Given the description of an element on the screen output the (x, y) to click on. 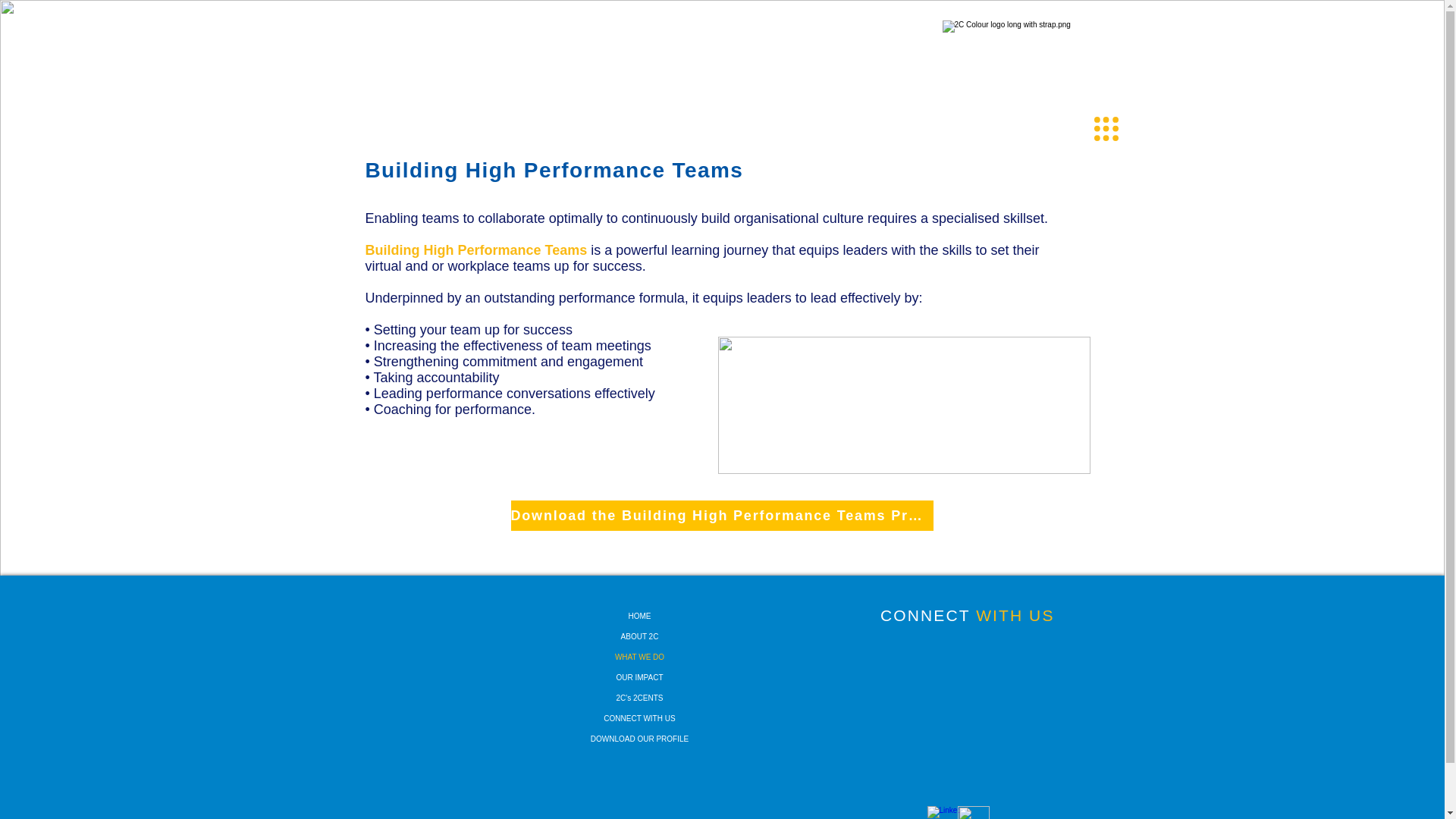
Building High Performance Teams icons ne (903, 405)
Facebook icon.png (972, 812)
OUR IMPACT (638, 677)
2C's 2CENTS (638, 697)
CONNECT WITH US (967, 615)
DOWNLOAD OUR PROFILE (638, 738)
2C White logo long no strap.png (1092, 53)
HOME (638, 616)
CONNECT WITH US (638, 718)
WHAT WE DO (638, 657)
ABOUT 2C (638, 636)
Download the Building High Performance Teams Profile (722, 515)
